Given the description of an element on the screen output the (x, y) to click on. 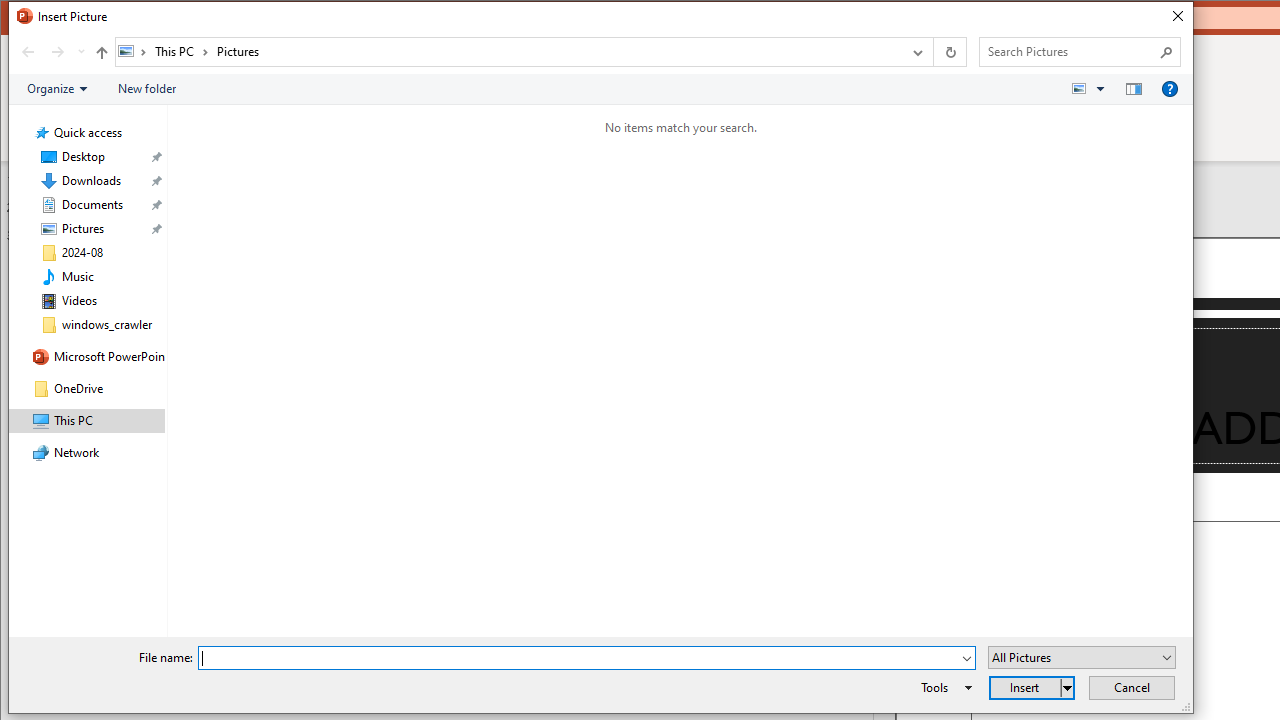
File name: (579, 658)
New folder (146, 89)
Pictures (237, 51)
Search Box (1069, 51)
Insert (1032, 688)
Address: Pictures (507, 51)
Recent locations (80, 51)
Tools (943, 687)
Views (1092, 89)
Open (1167, 657)
Forward (Alt + Right Arrow) (57, 51)
Previous Locations (916, 51)
Close (1176, 16)
Address band toolbar (932, 51)
